Given the description of an element on the screen output the (x, y) to click on. 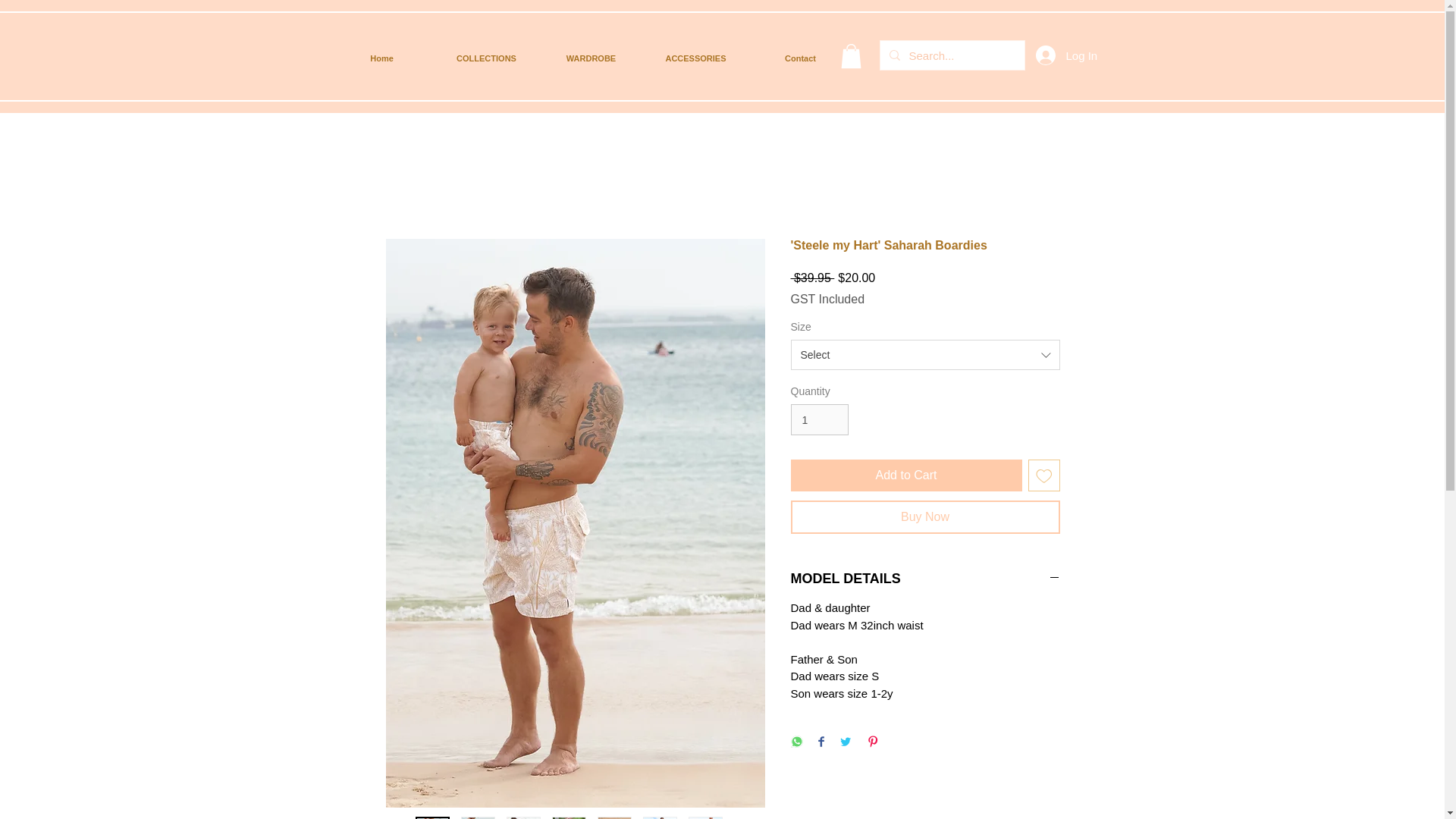
Log In (1056, 54)
1 (818, 419)
COLLECTIONS (485, 57)
WARDROBE (590, 57)
Home (381, 57)
ACCESSORIES (695, 57)
Contact (799, 57)
